Given the description of an element on the screen output the (x, y) to click on. 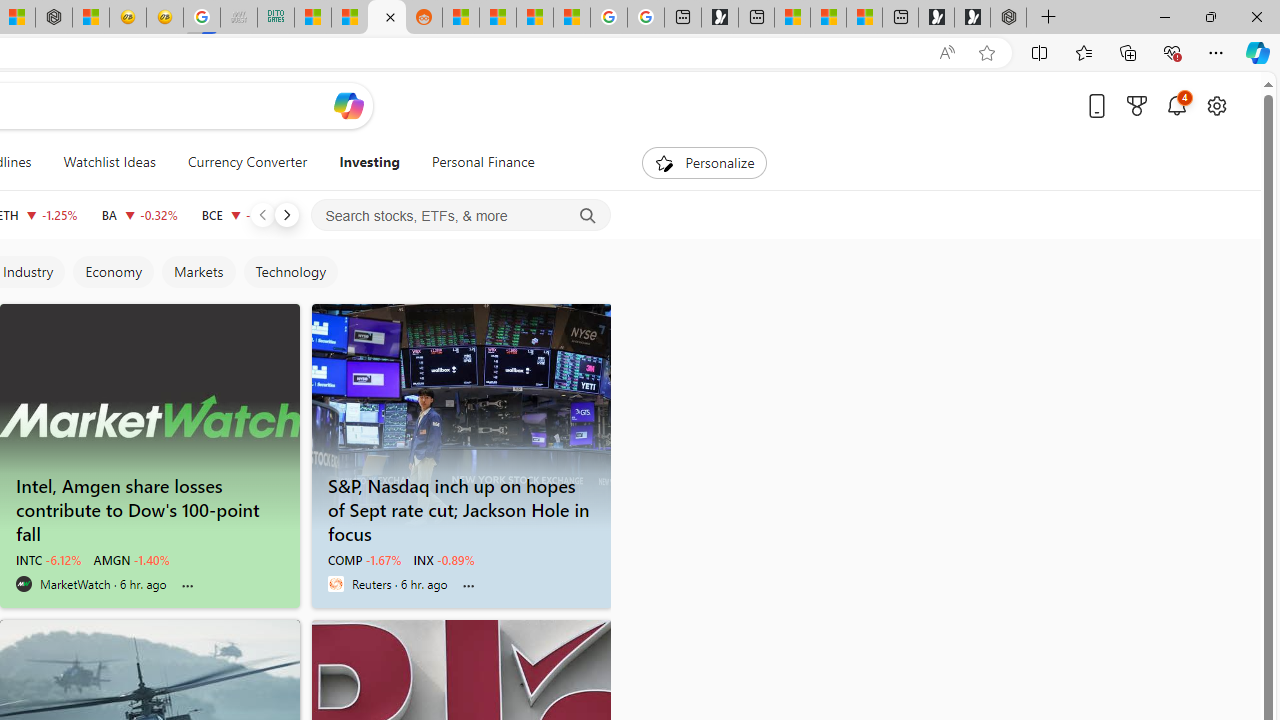
AMGN -1.40% (131, 560)
Open settings (1216, 105)
Previous (262, 214)
BA THE BOEING COMPANY decrease 172.87 -0.56 -0.32% (139, 214)
Search stocks, ETFs, & more (461, 215)
